Given the description of an element on the screen output the (x, y) to click on. 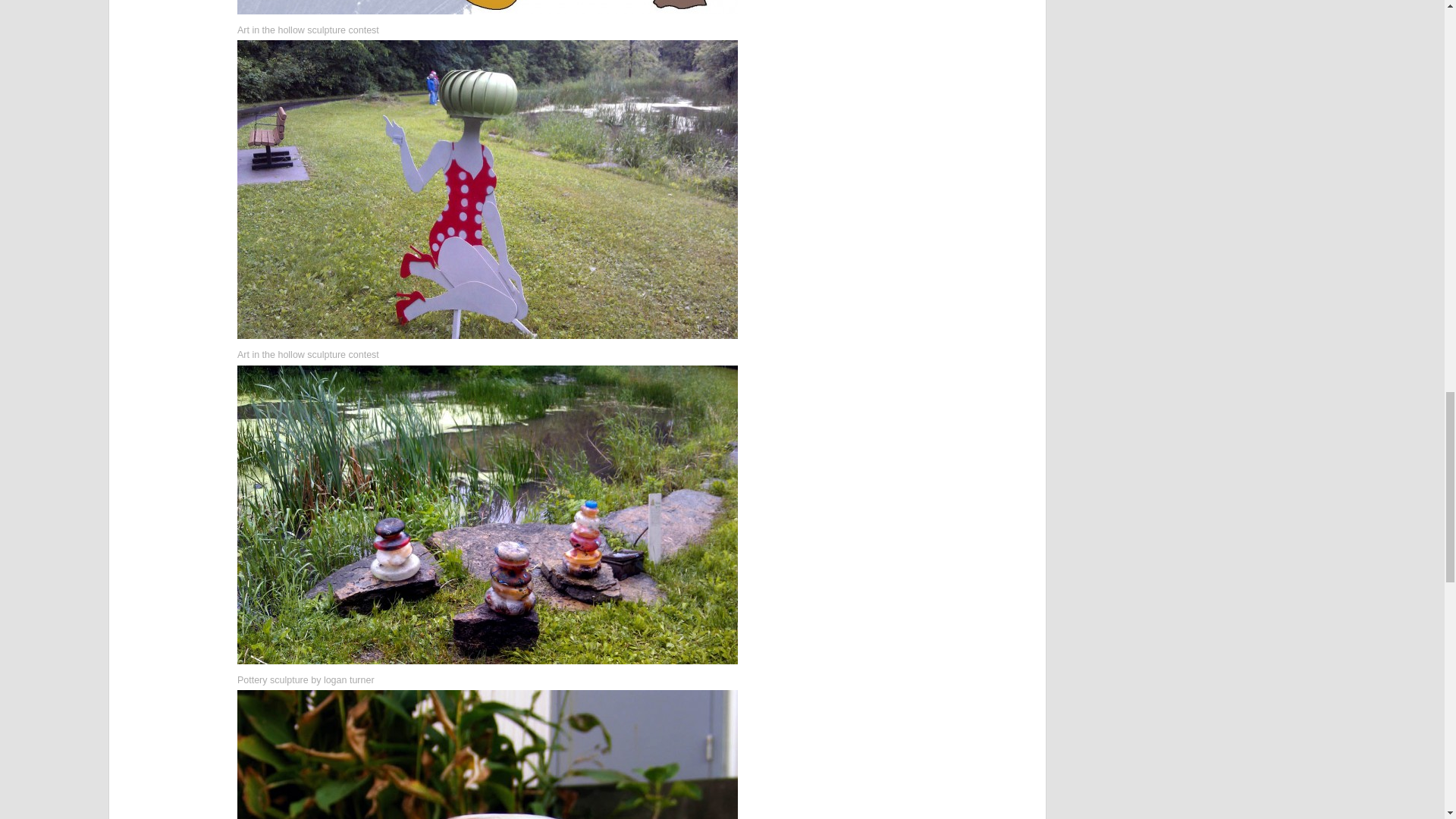
pottery sculpture by logan turner (487, 754)
art in the hollow sculpture contest (487, 6)
